Given the description of an element on the screen output the (x, y) to click on. 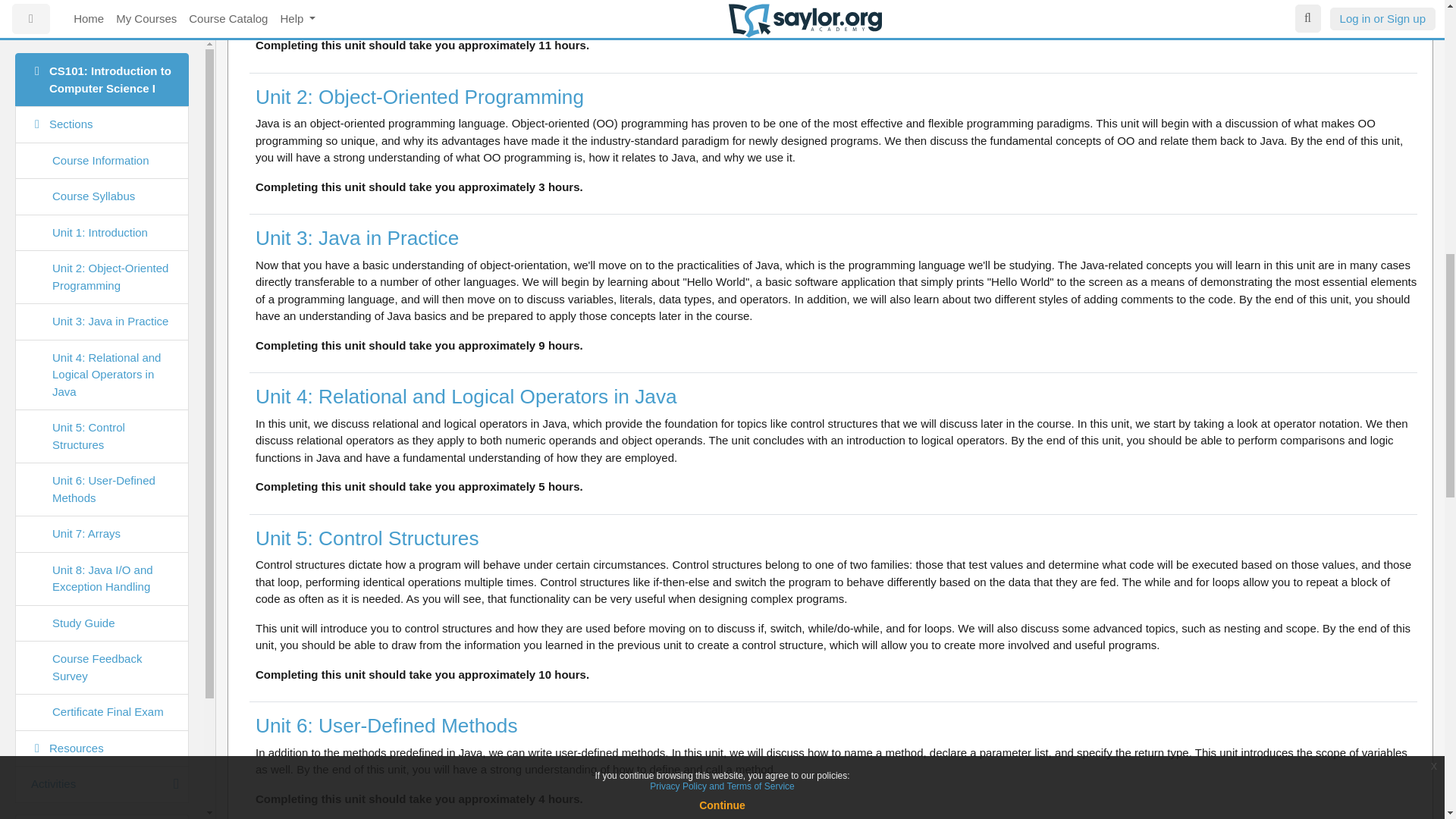
My certificates (101, 85)
Home (101, 16)
My programs (101, 49)
